Given the description of an element on the screen output the (x, y) to click on. 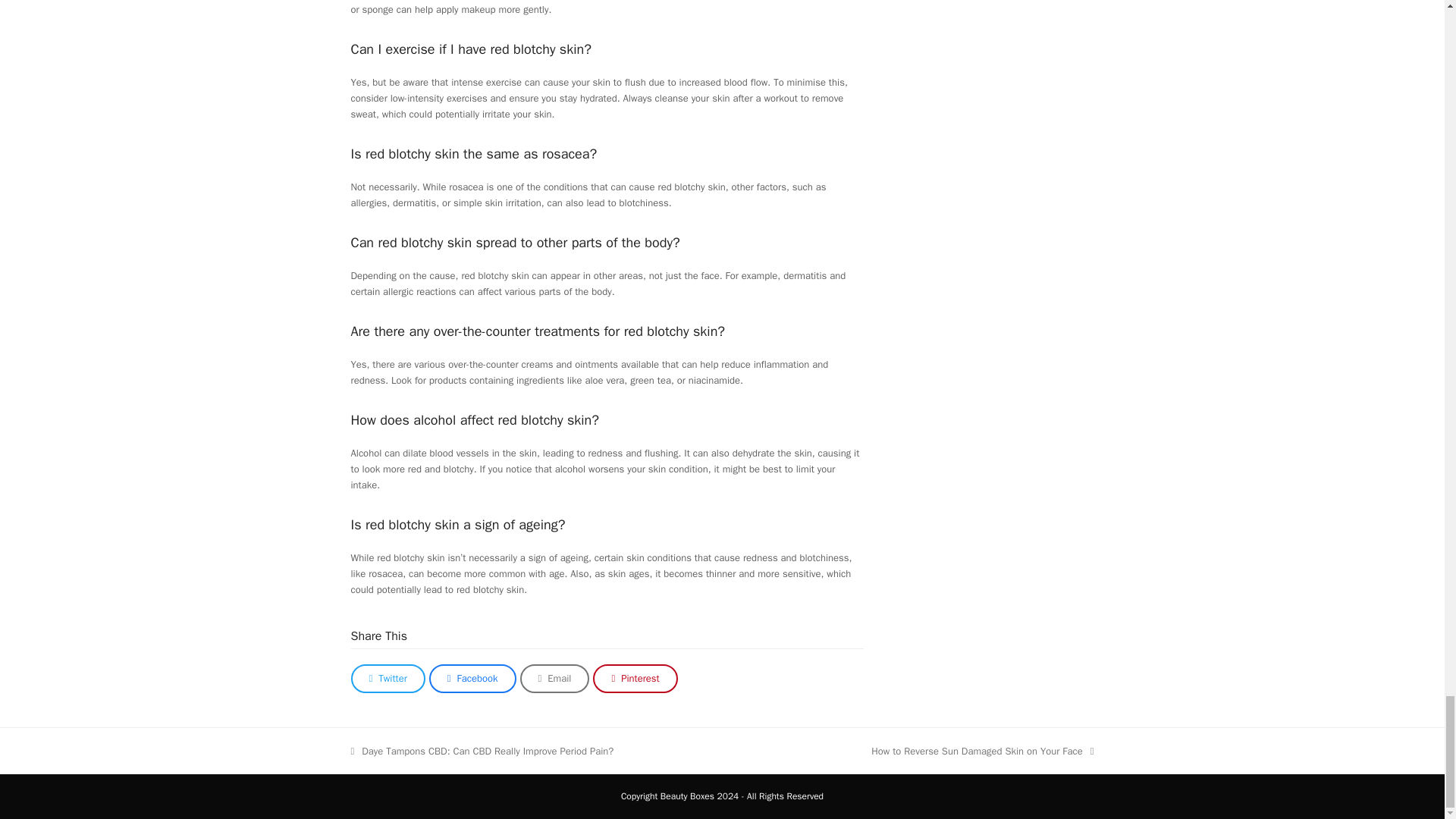
Twitter (387, 678)
Pinterest (634, 678)
Facebook (981, 750)
Beauty Boxes (472, 678)
Email (687, 796)
